Given the description of an element on the screen output the (x, y) to click on. 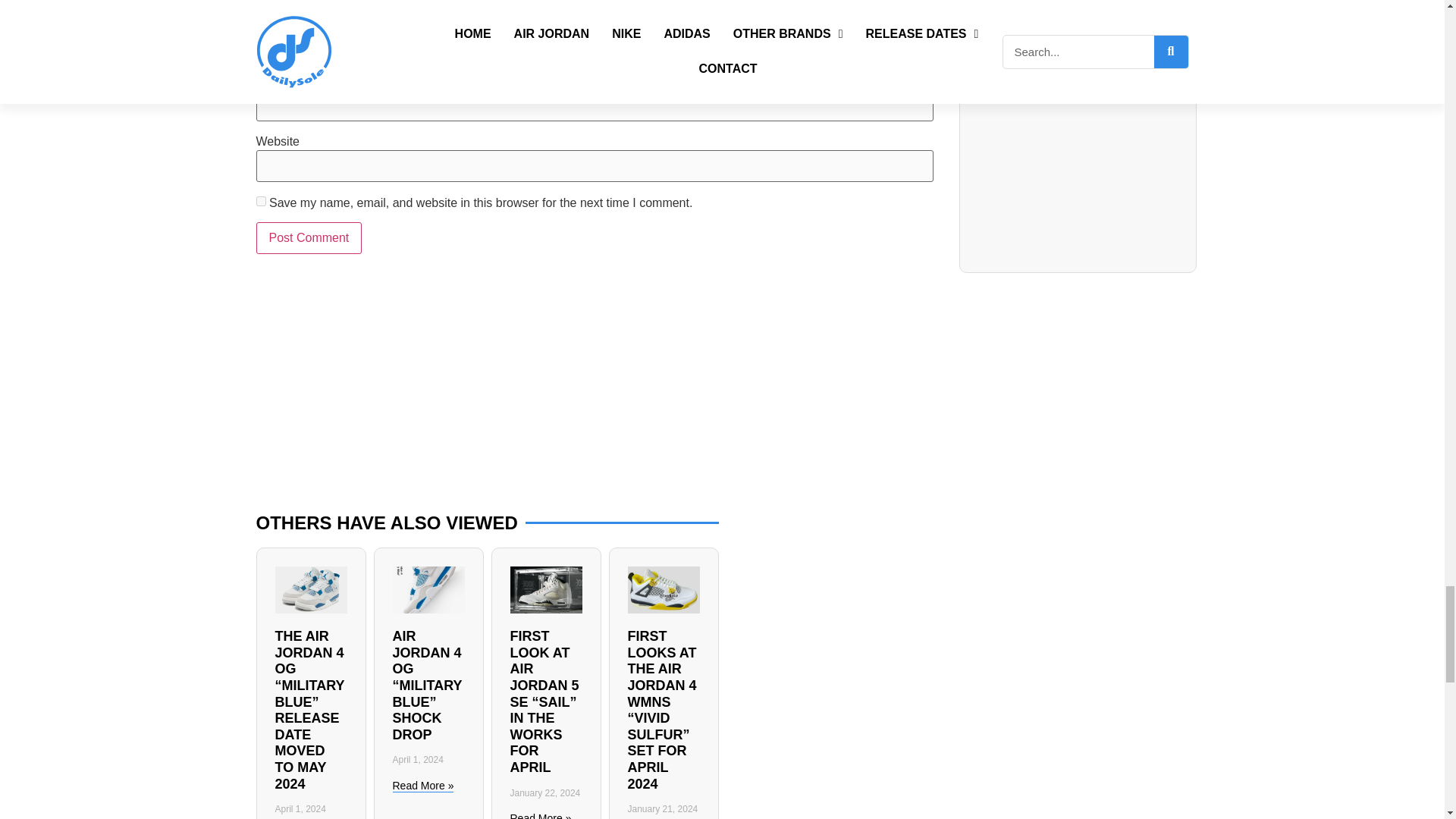
yes (261, 201)
Post Comment (309, 237)
